Given the description of an element on the screen output the (x, y) to click on. 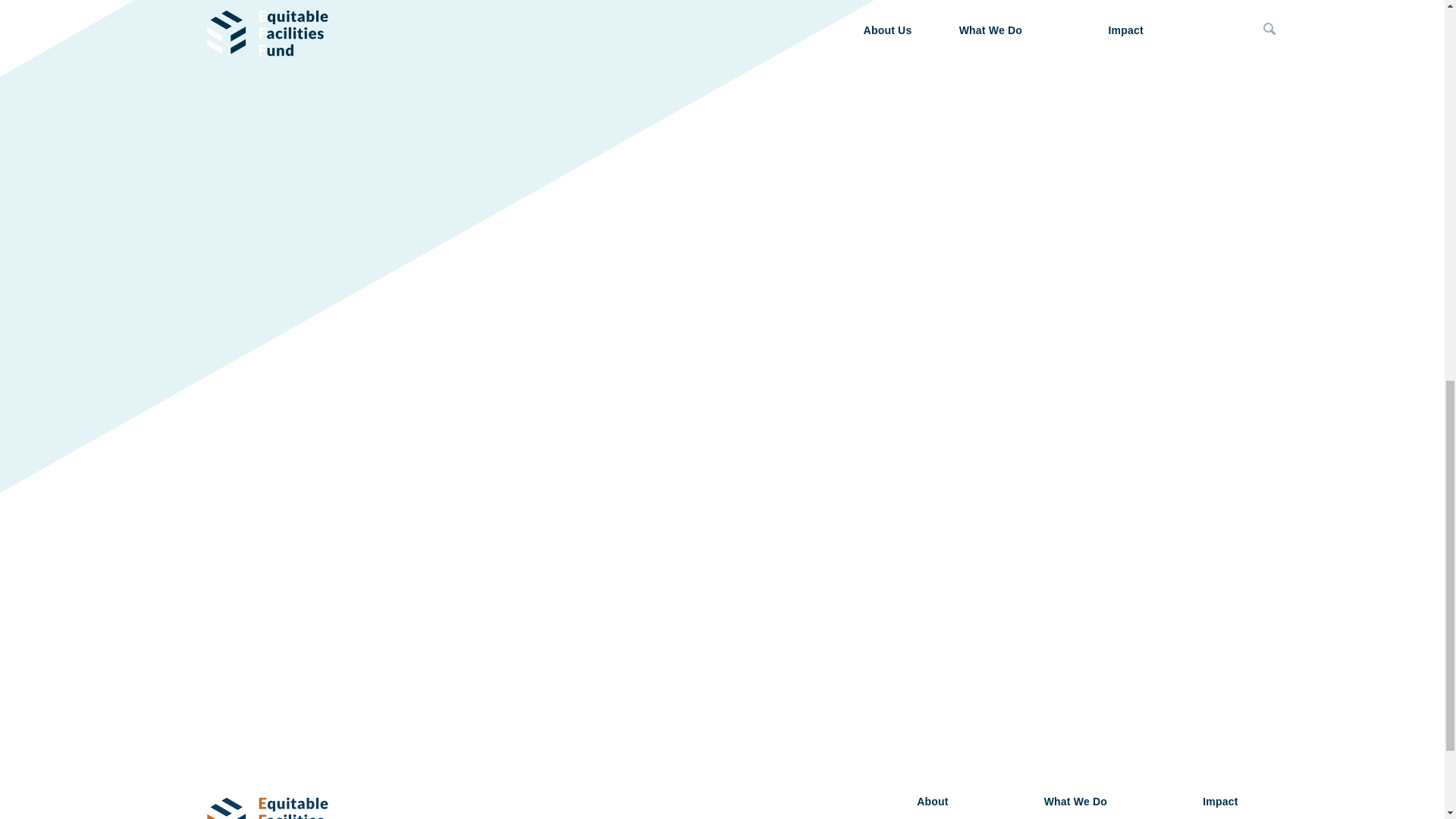
Impact (1219, 801)
What We Do (1074, 801)
About (932, 801)
